Given the description of an element on the screen output the (x, y) to click on. 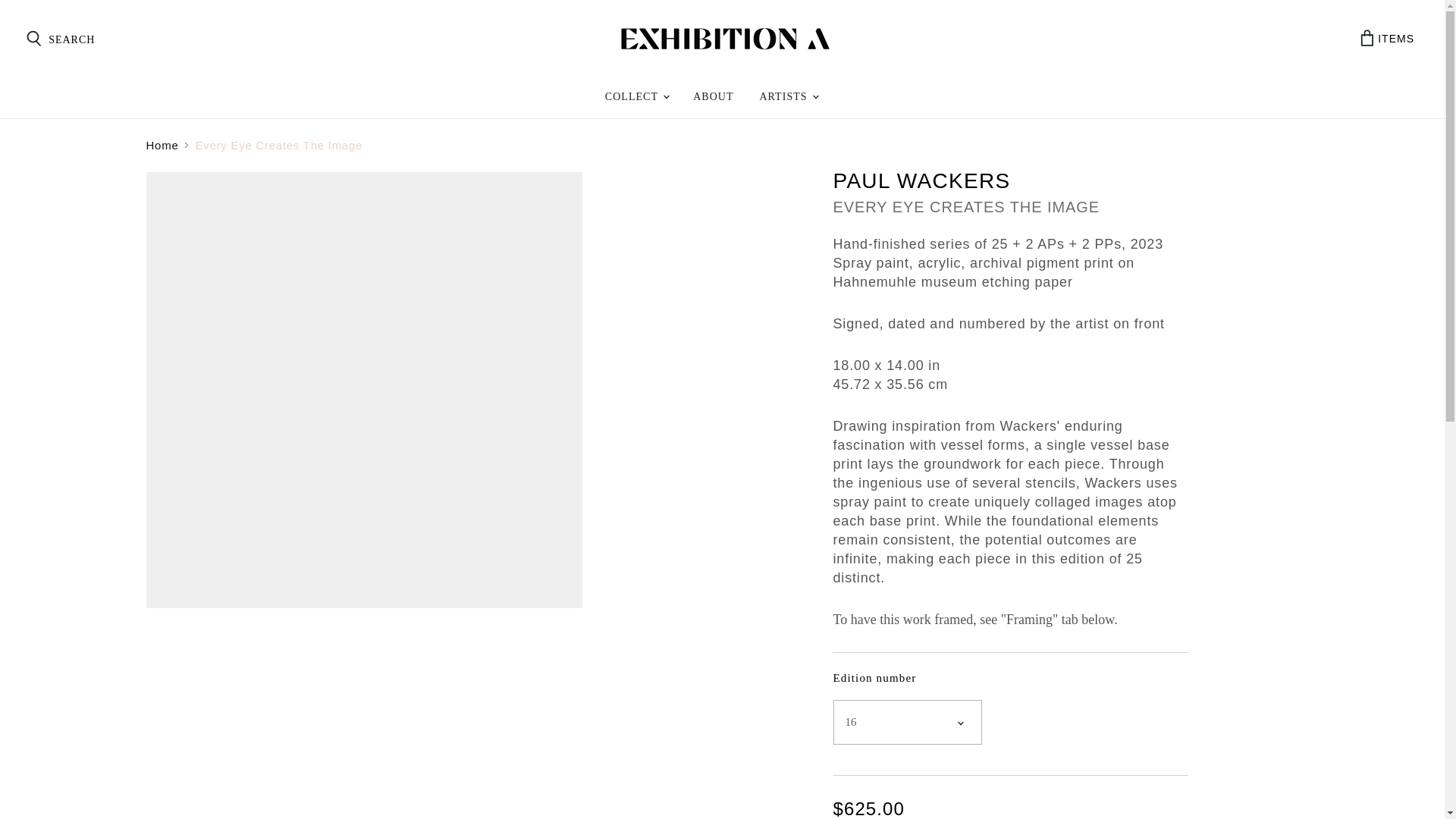
Search icon SEARCH (59, 39)
Paul Wackers (921, 180)
ARTISTS (788, 96)
COLLECT (636, 96)
ABOUT (1387, 38)
